Given the description of an element on the screen output the (x, y) to click on. 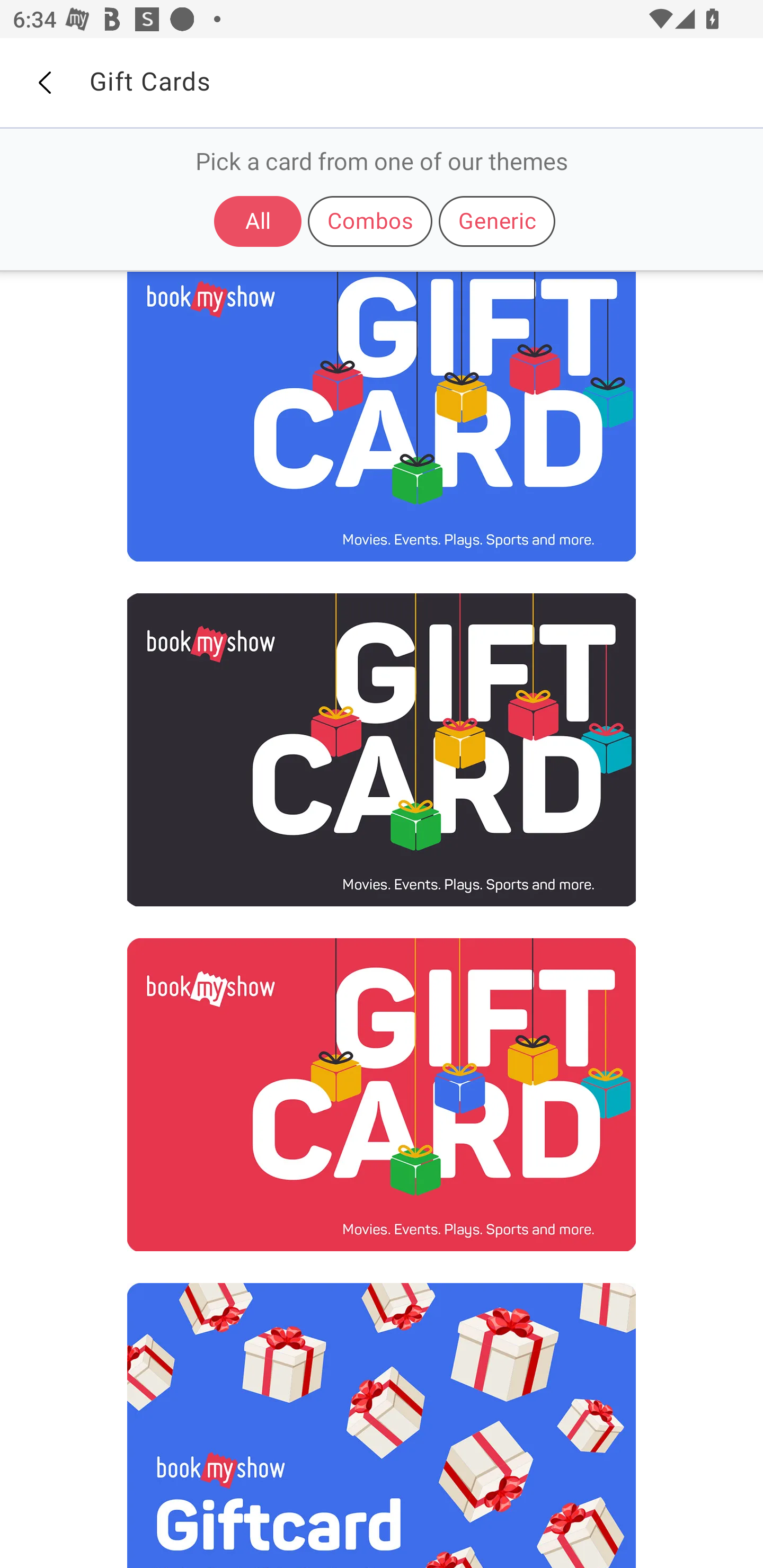
Back (44, 82)
  All   (257, 221)
Combos (369, 221)
Generic (496, 221)
